Given the description of an element on the screen output the (x, y) to click on. 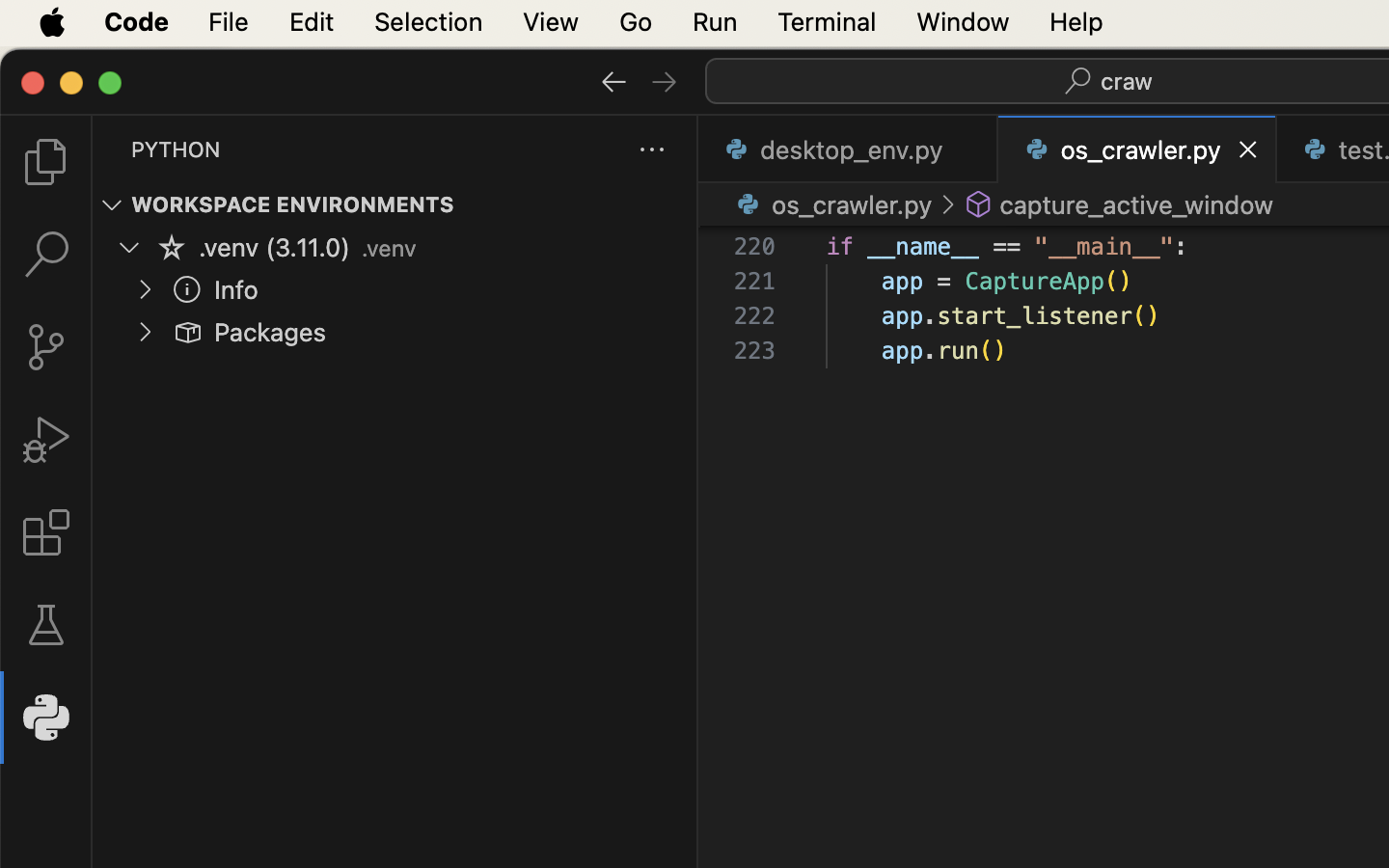
 Element type: AXGroup (46, 439)
WORKSPACE ENVIRONMENTS Element type: AXStaticText (293, 204)
1 os_crawler.py   Element type: AXRadioButton (1138, 149)
 Element type: AXStaticText (186, 331)
 Element type: AXButton (614, 80)
